Given the description of an element on the screen output the (x, y) to click on. 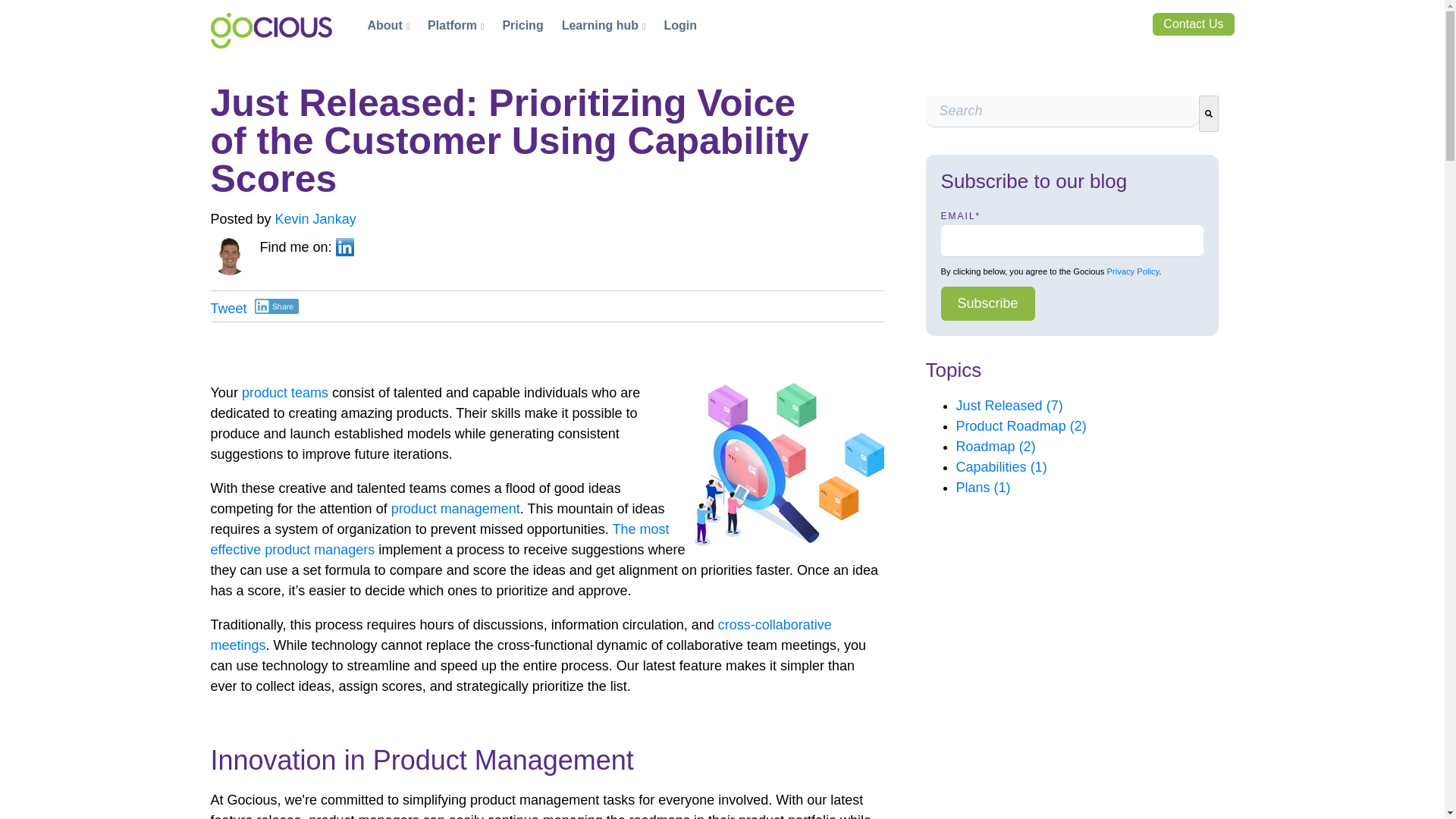
LinkedIn (344, 247)
Platform (452, 25)
Gocious (271, 30)
Contact Us (1193, 24)
Share (276, 305)
Learning hub (600, 25)
Pricing (522, 25)
About (383, 25)
Kevin Jankay (315, 218)
Subscribe (987, 303)
